Given the description of an element on the screen output the (x, y) to click on. 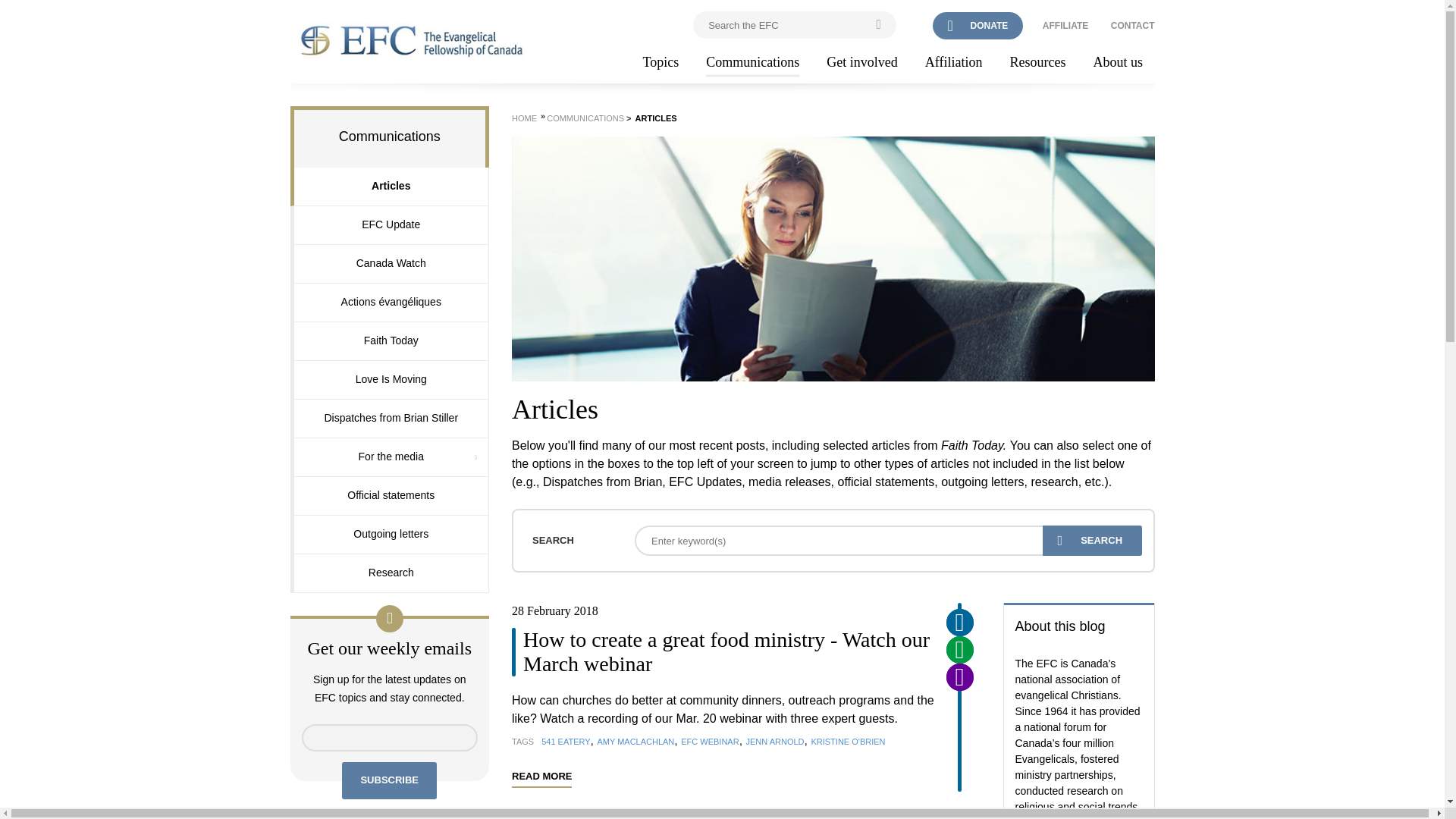
Topics (660, 62)
Subscribe (389, 780)
Search (1091, 540)
